Given the description of an element on the screen output the (x, y) to click on. 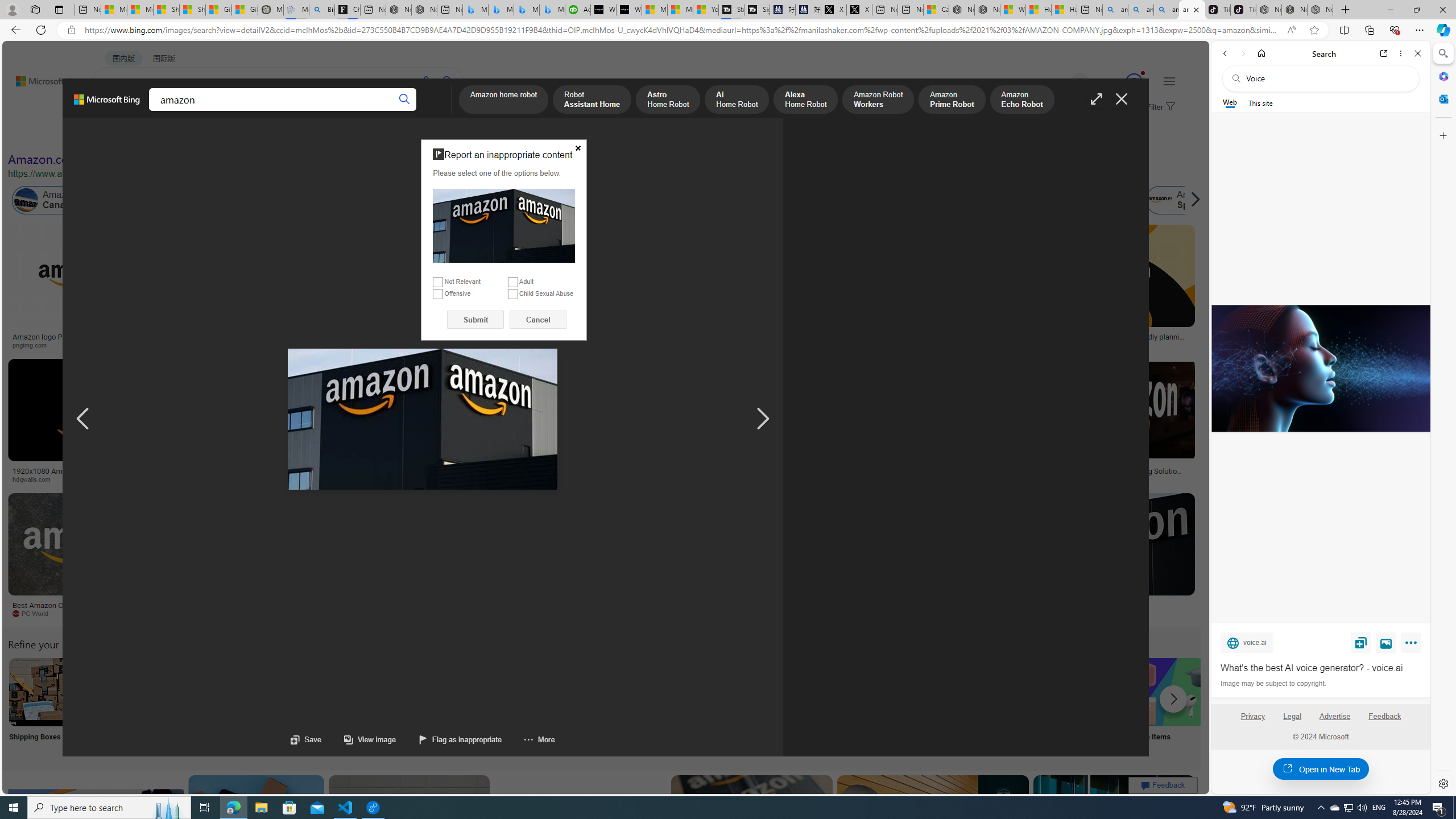
Amazon Online Shopping Homepage (868, 691)
PC World (83, 613)
Amazon Clip Art Clip Art (192, 706)
Amazon Prime Online (137, 200)
VIDEOS (260, 111)
